Given the description of an element on the screen output the (x, y) to click on. 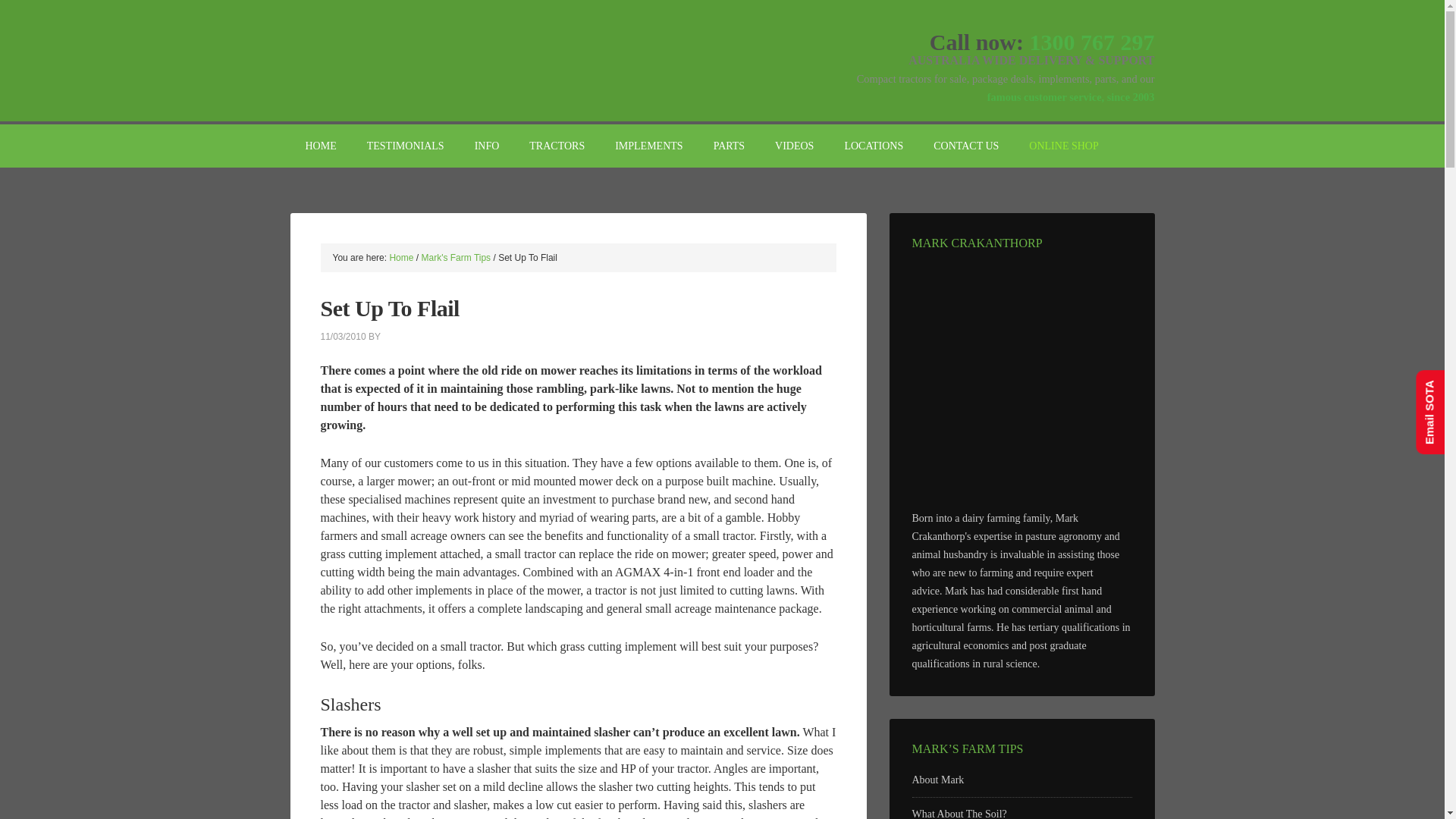
TESTIMONIALS (406, 145)
IMPLEMENTS (648, 145)
SOTA TRACTORS AUSTRALIA (418, 52)
TRACTORS (556, 145)
1300 767 297 (1091, 41)
INFO (487, 145)
HOME (319, 145)
